Given the description of an element on the screen output the (x, y) to click on. 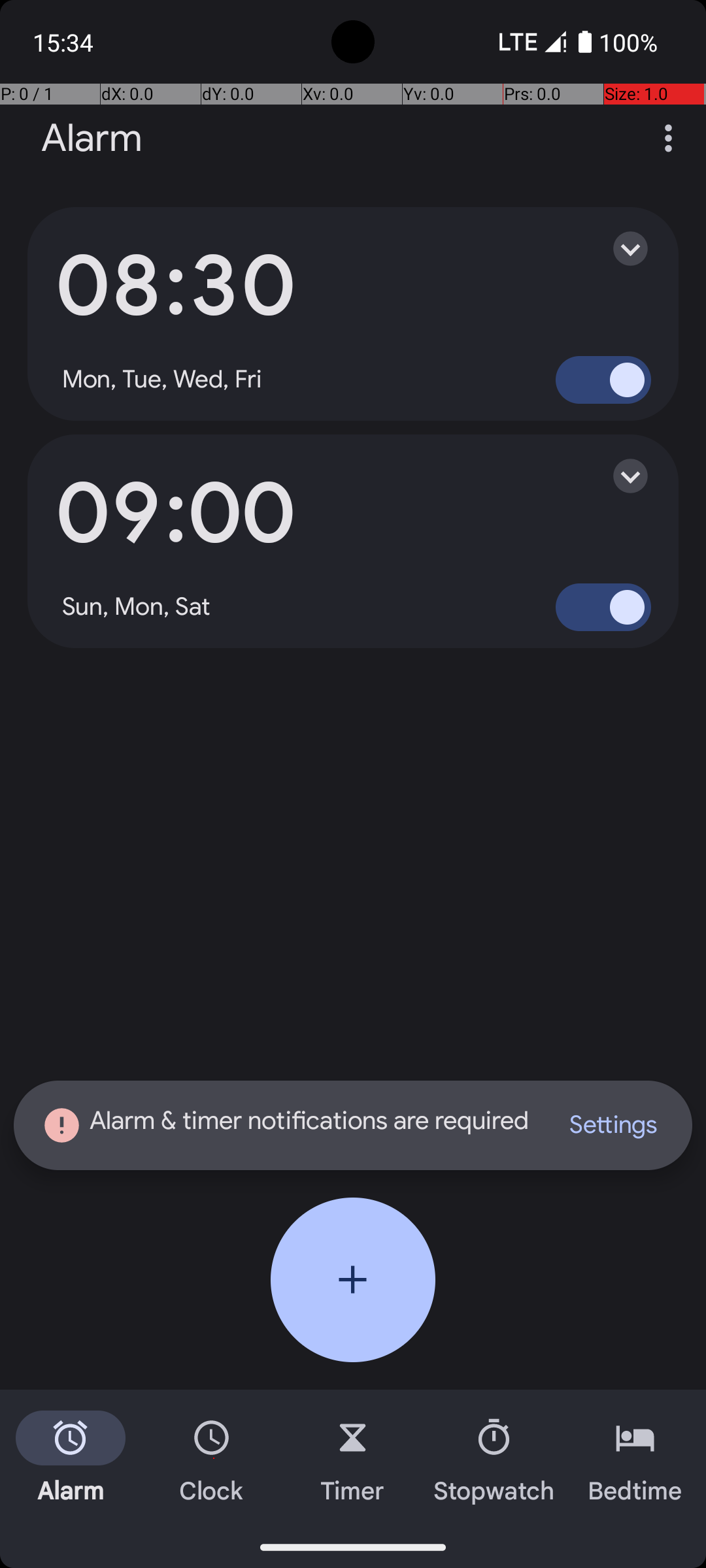
Mon, Tue, Wed, Fri Element type: android.widget.TextView (161, 379)
Sun, Mon, Sat Element type: android.widget.TextView (136, 606)
Alarm & timer notifications are required Element type: android.widget.TextView (287, 1125)
